Given the description of an element on the screen output the (x, y) to click on. 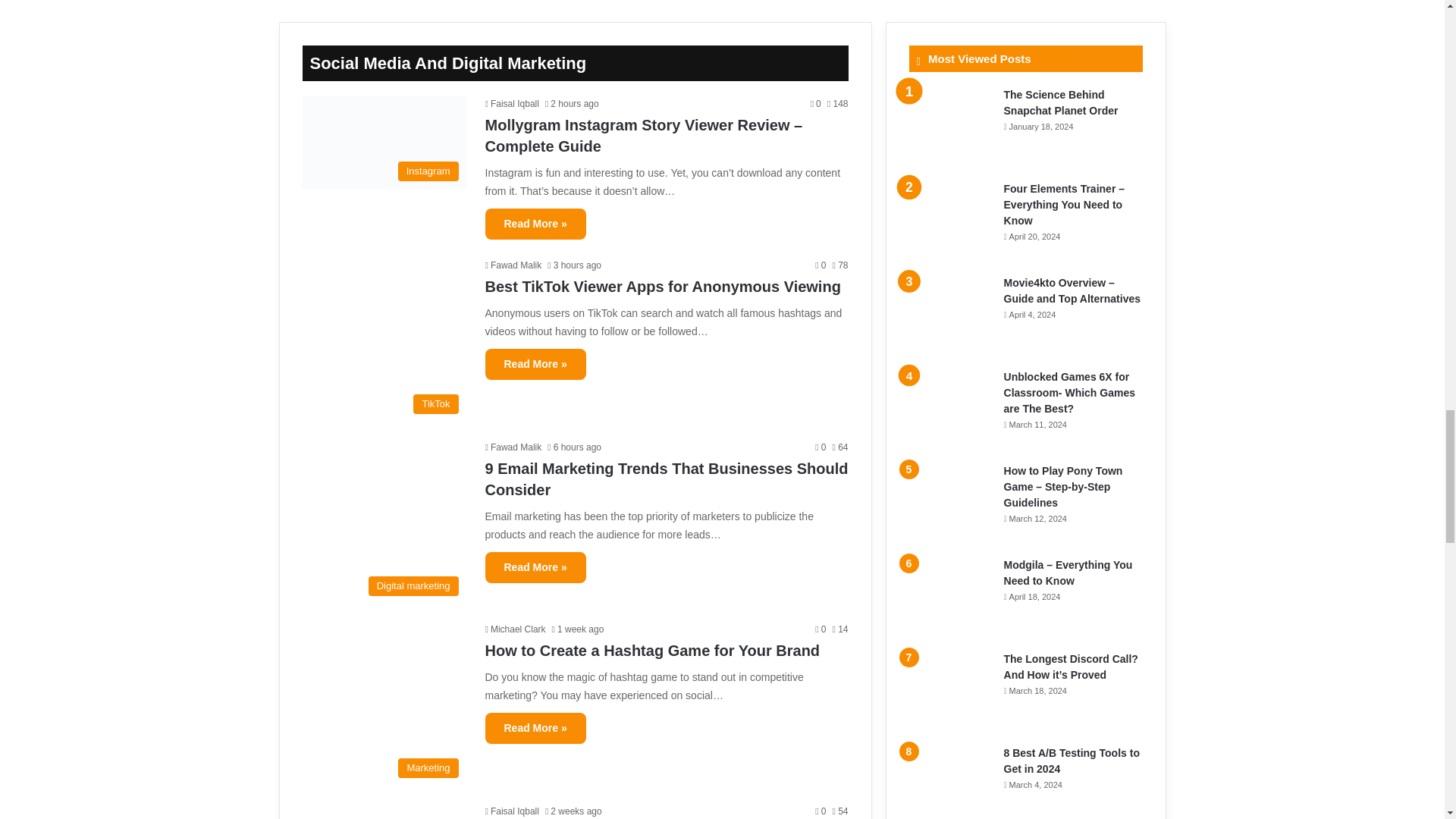
Fawad Malik (512, 447)
Michael Clark (515, 629)
Fawad Malik (512, 265)
Faisal Iqball (511, 810)
Faisal Iqball (511, 103)
